Given the description of an element on the screen output the (x, y) to click on. 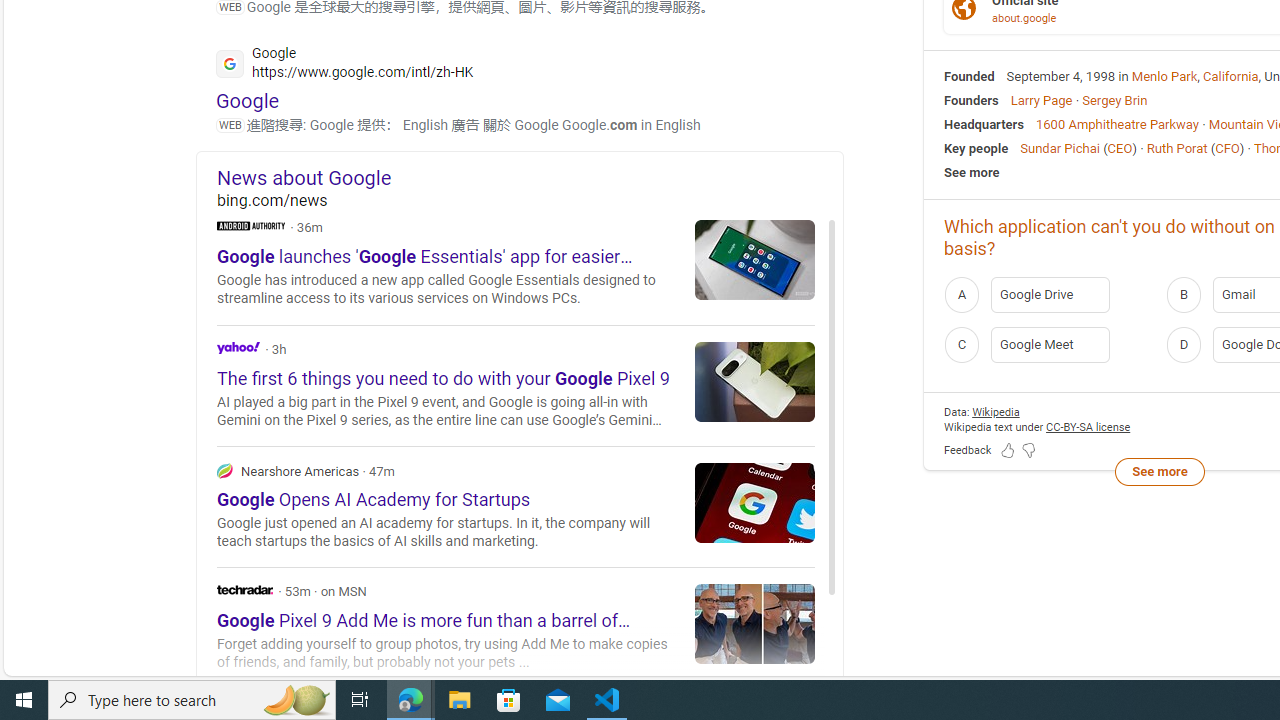
CEO (1119, 147)
bing.com/news (530, 199)
Sergey Brin (1114, 100)
Key people (976, 147)
The first 6 things you need to do with your Google Pixel 9 (755, 381)
Google Opens AI Academy for Startups (755, 502)
CFO (1227, 147)
Global web icon (229, 63)
Founded (969, 75)
1600 Amphitheatre Parkway (1117, 123)
TechRadar on MSN (516, 627)
Yahoo (516, 384)
Data attribution Wikipedia (995, 411)
